Given the description of an element on the screen output the (x, y) to click on. 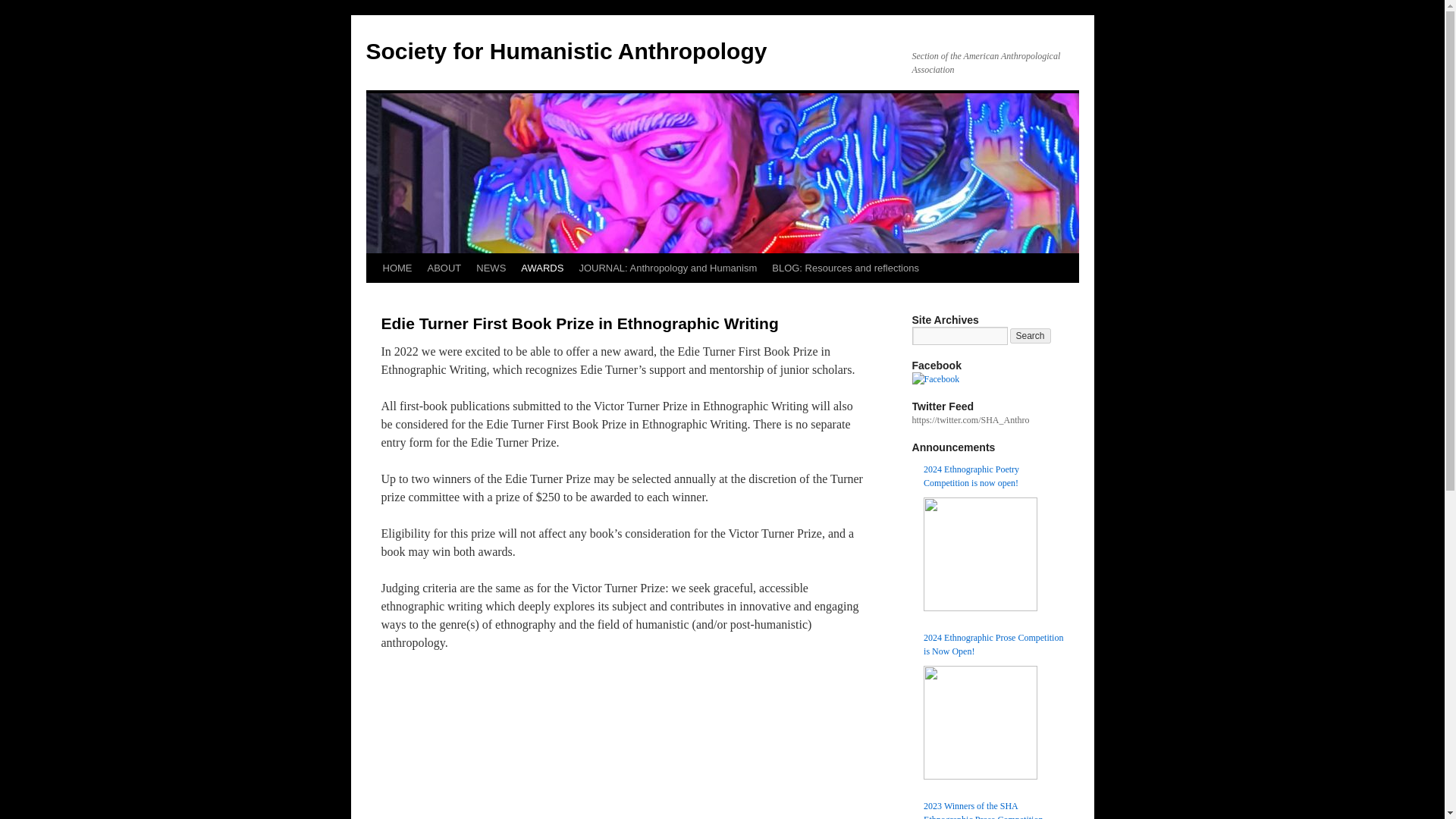
HOME (396, 267)
AWARDS (541, 267)
NEWS (490, 267)
2024 Ethnographic Prose Competition is Now Open! (979, 722)
2023 Winners of the SHA Ethnographic Prose Competition (992, 809)
ABOUT (444, 267)
Search (1030, 335)
Society for Humanistic Anthropology (566, 50)
2024 Ethnographic Poetry Competition is now open! (979, 553)
BLOG: Resources and reflections (845, 267)
JOURNAL: Anthropology and Humanism (667, 267)
2024 Ethnographic Poetry Competition is now open! (992, 475)
Facebook (935, 378)
2024 Ethnographic Prose Competition is Now Open! (992, 644)
Search (1030, 335)
